Given the description of an element on the screen output the (x, y) to click on. 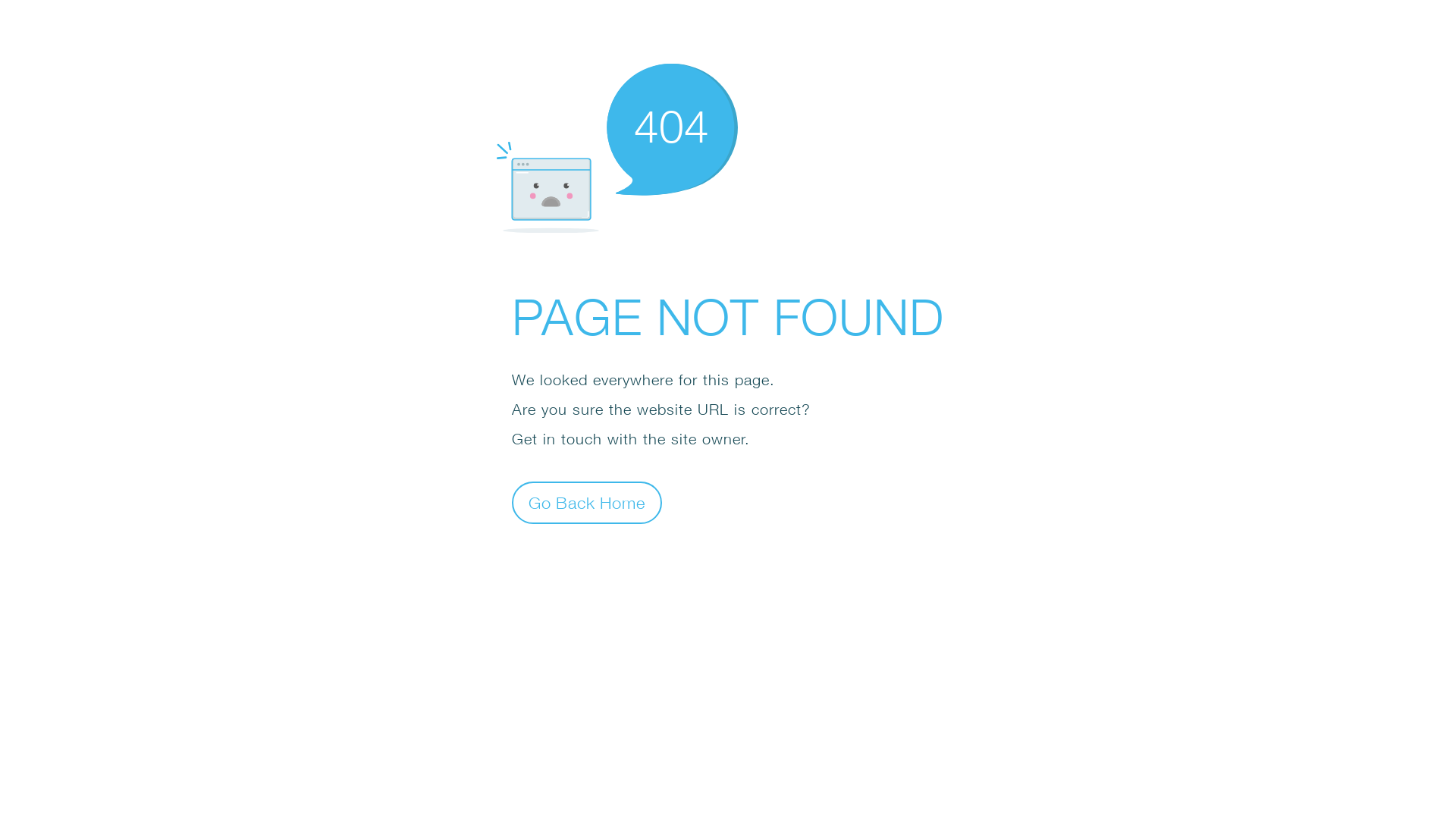
Go Back Home Element type: text (586, 502)
